Given the description of an element on the screen output the (x, y) to click on. 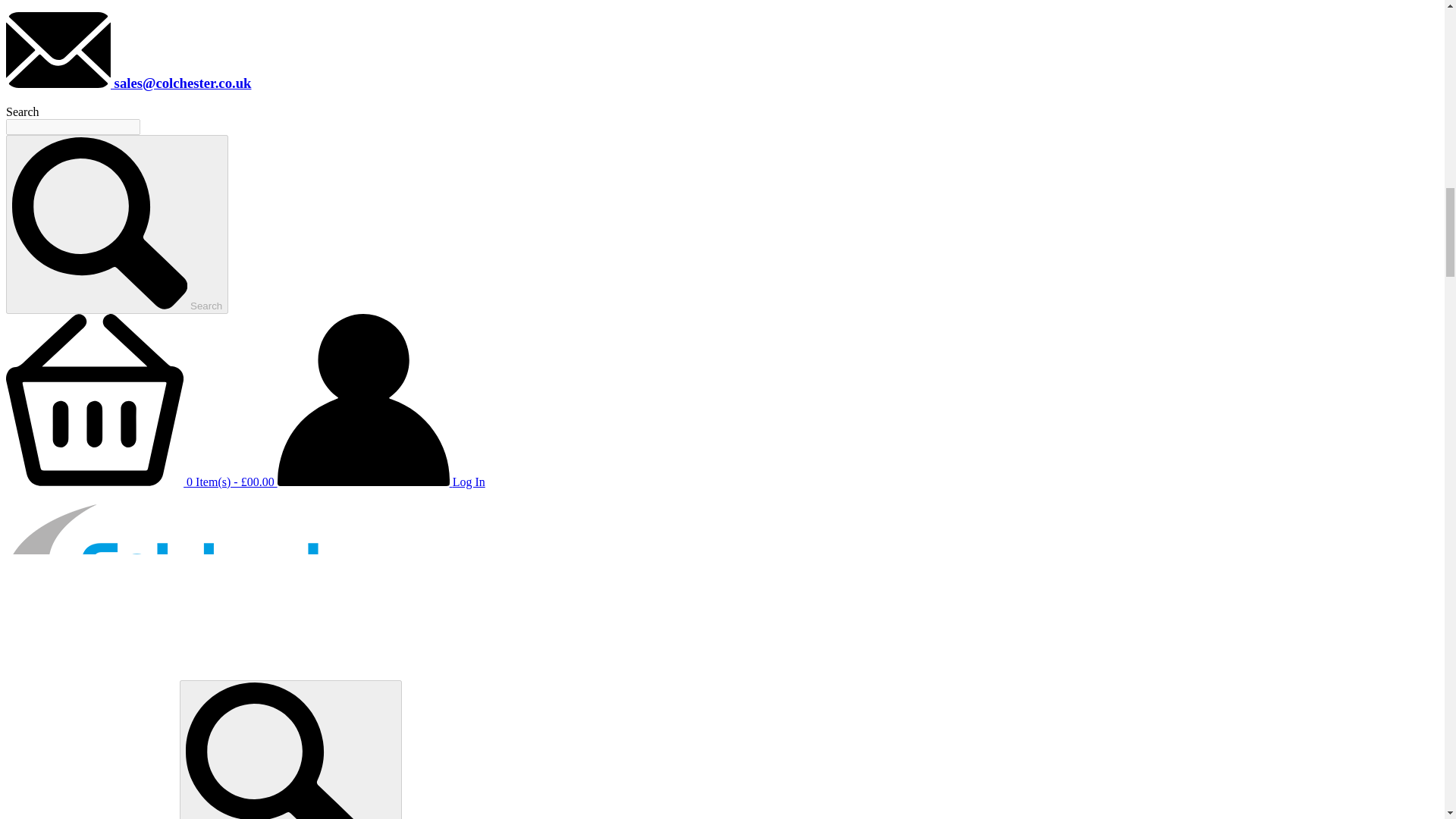
Login (381, 481)
Search (116, 224)
Log In (381, 481)
Search (290, 749)
Colchester Machine Tool Solutions (195, 654)
Go To Basket (141, 481)
